Given the description of an element on the screen output the (x, y) to click on. 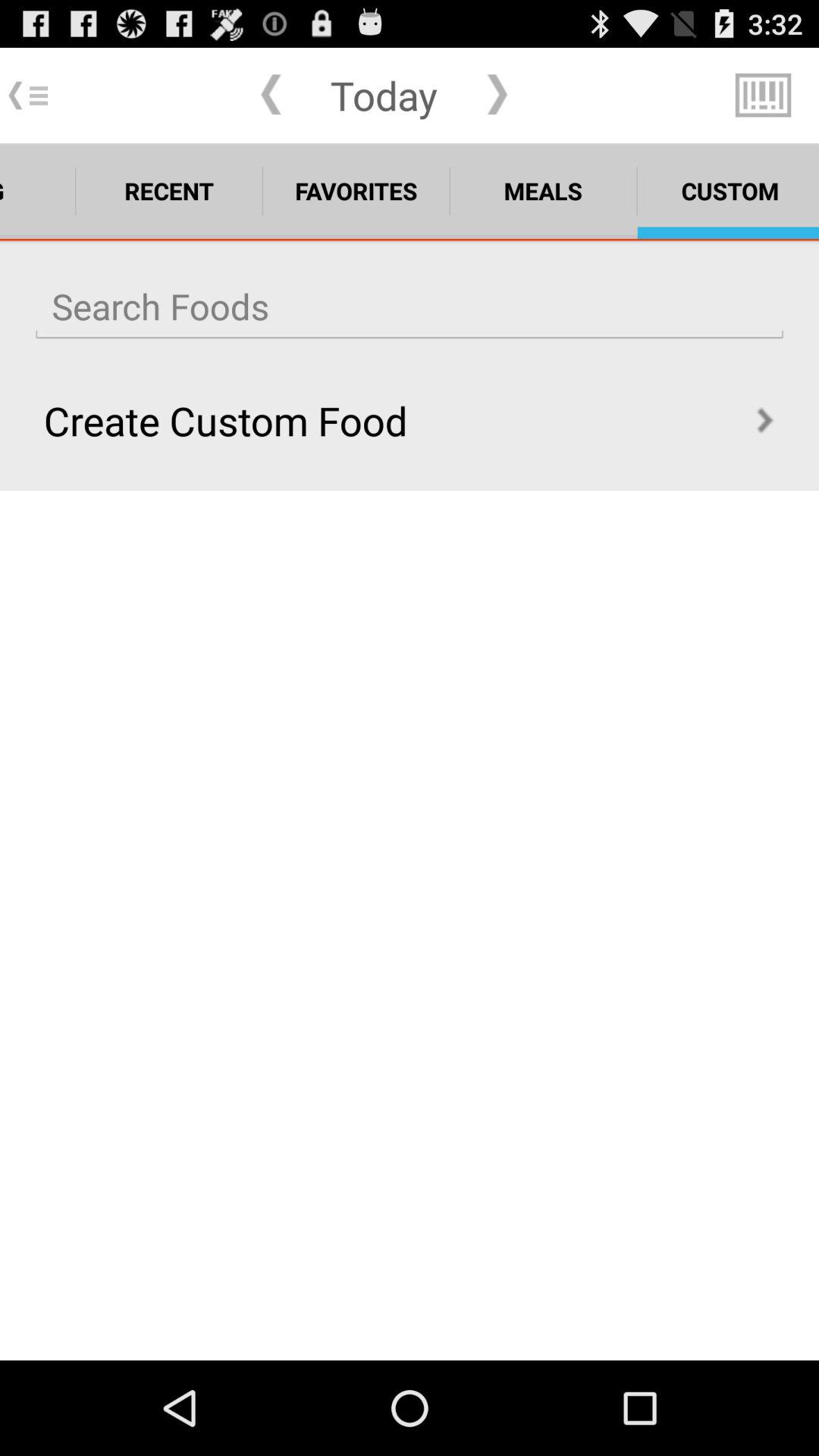
flip to today app (383, 94)
